Given the description of an element on the screen output the (x, y) to click on. 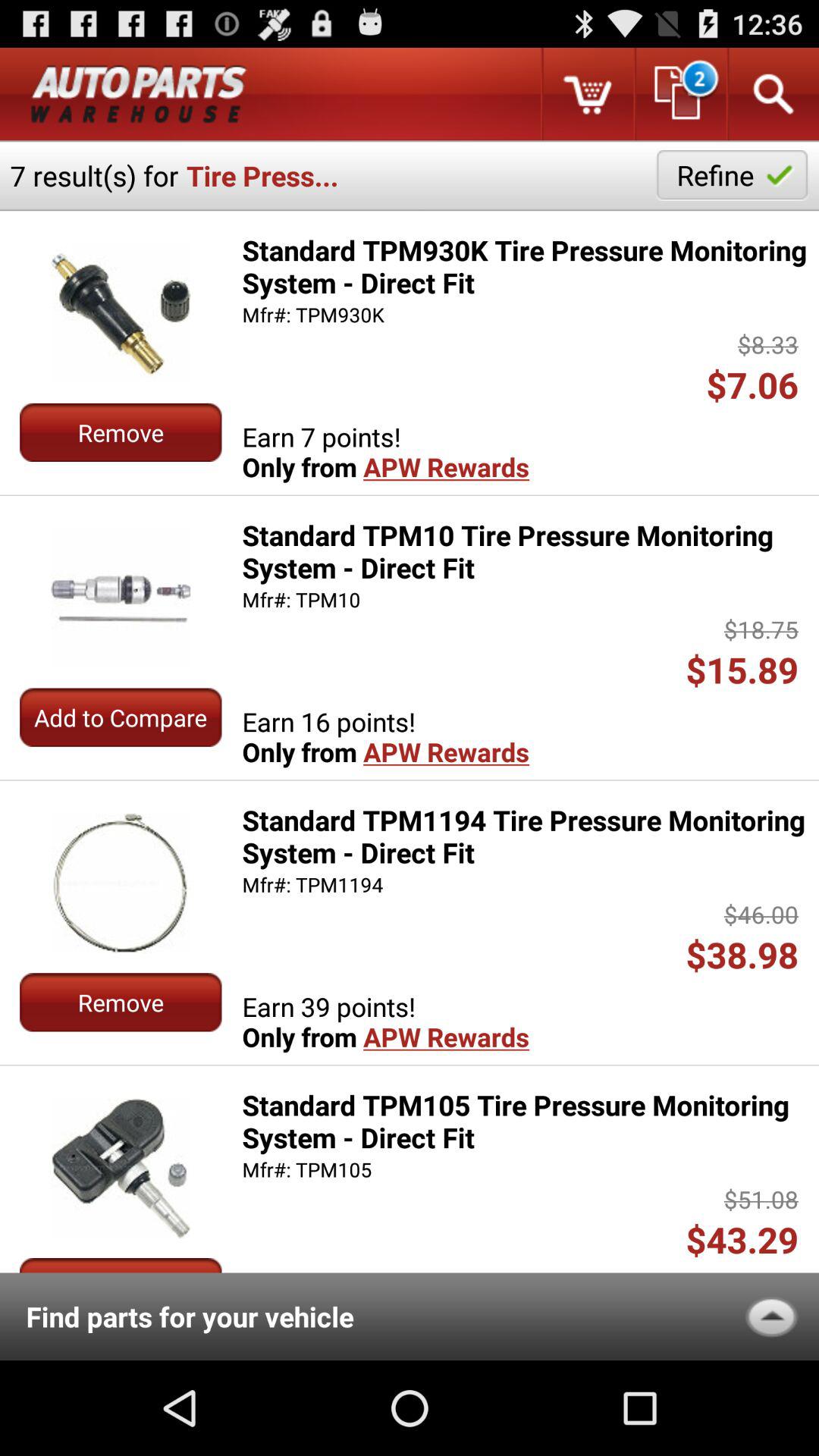
search products (772, 93)
